Given the description of an element on the screen output the (x, y) to click on. 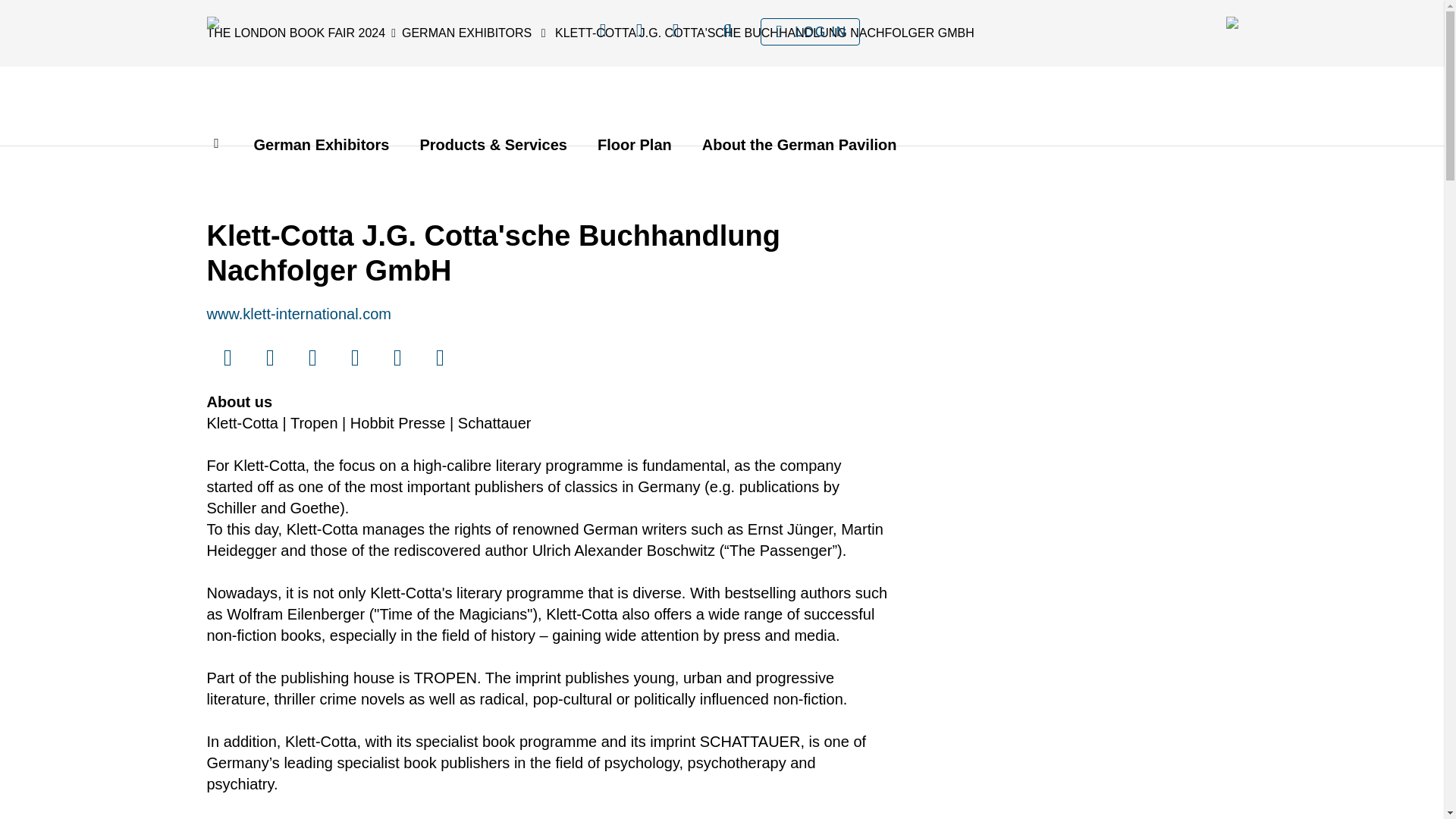
www.klett-international.com (298, 313)
About the German Pavilion (798, 144)
Floor Plan (633, 144)
LOG IN (810, 31)
German Exhibitors (320, 144)
